Given the description of an element on the screen output the (x, y) to click on. 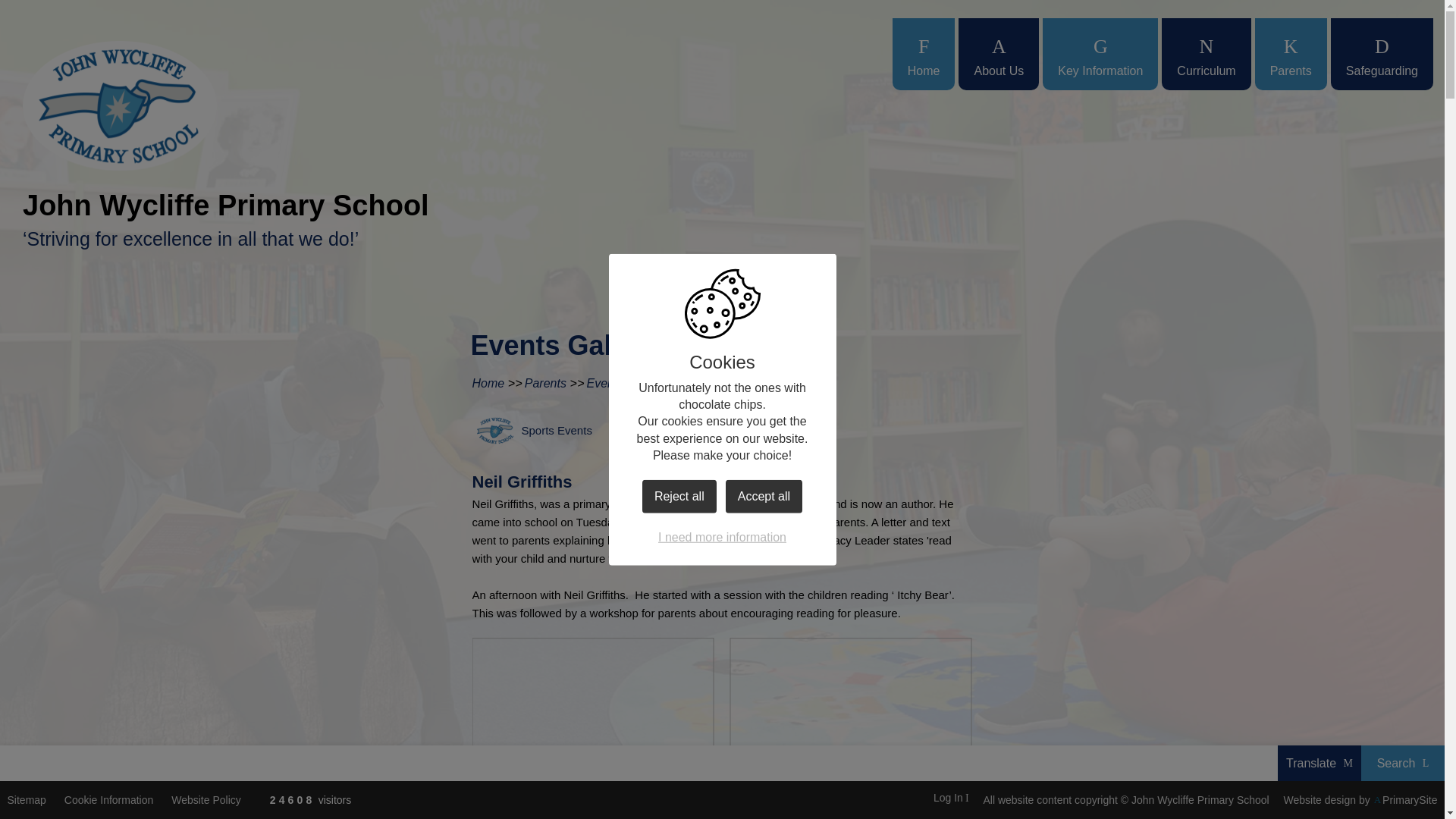
Curriculum (1205, 54)
About Us (998, 54)
Parents (1290, 54)
Home Page (119, 105)
Key Information (1099, 54)
